Given the description of an element on the screen output the (x, y) to click on. 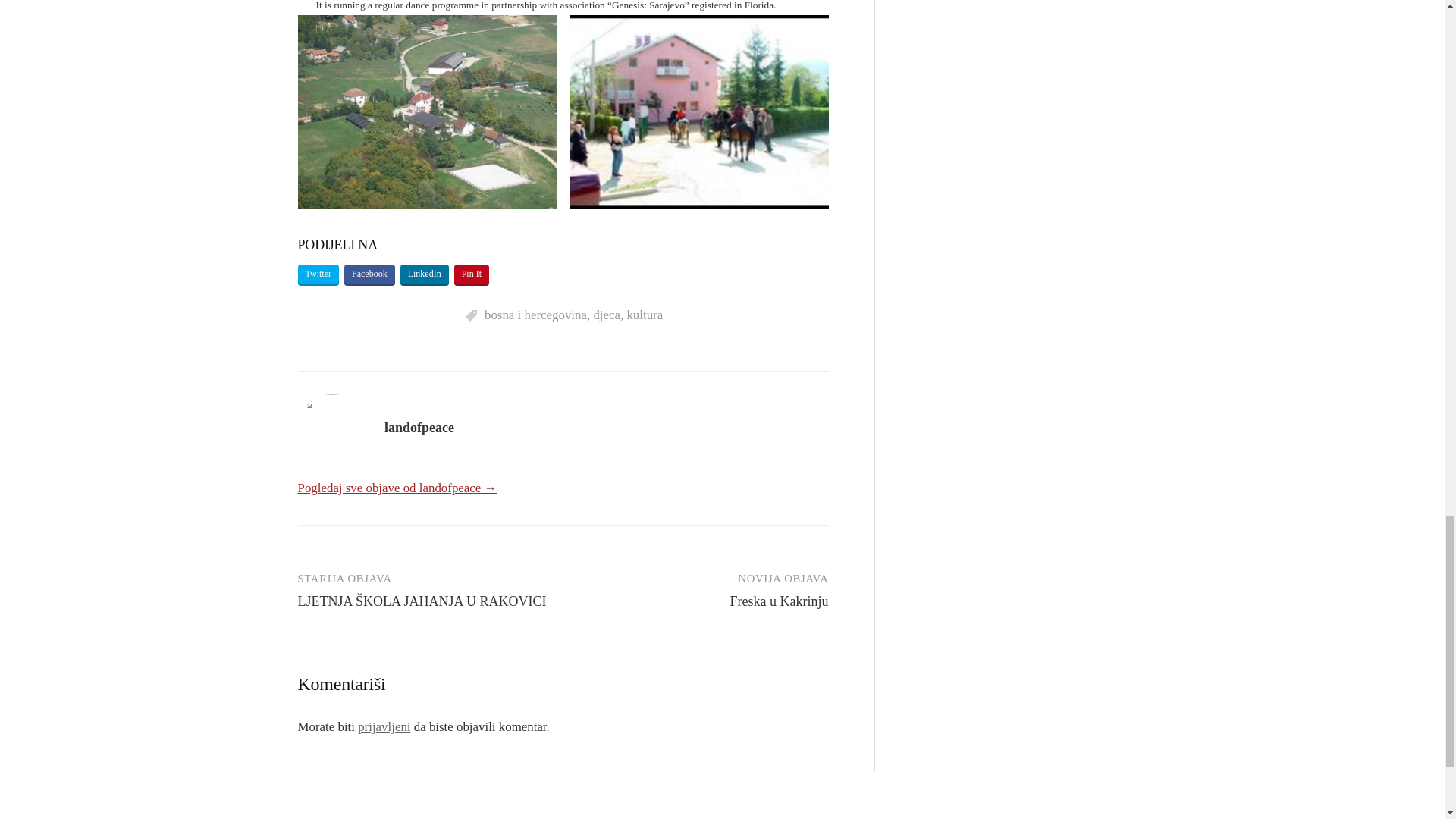
djeca (606, 314)
kultura (644, 314)
prijavljeni (384, 726)
Facebook (368, 274)
LinkedIn (424, 274)
Twitter (317, 274)
bosna i hercegovina (535, 314)
Pin It (471, 274)
Freska u Kakrinju (779, 601)
